Given the description of an element on the screen output the (x, y) to click on. 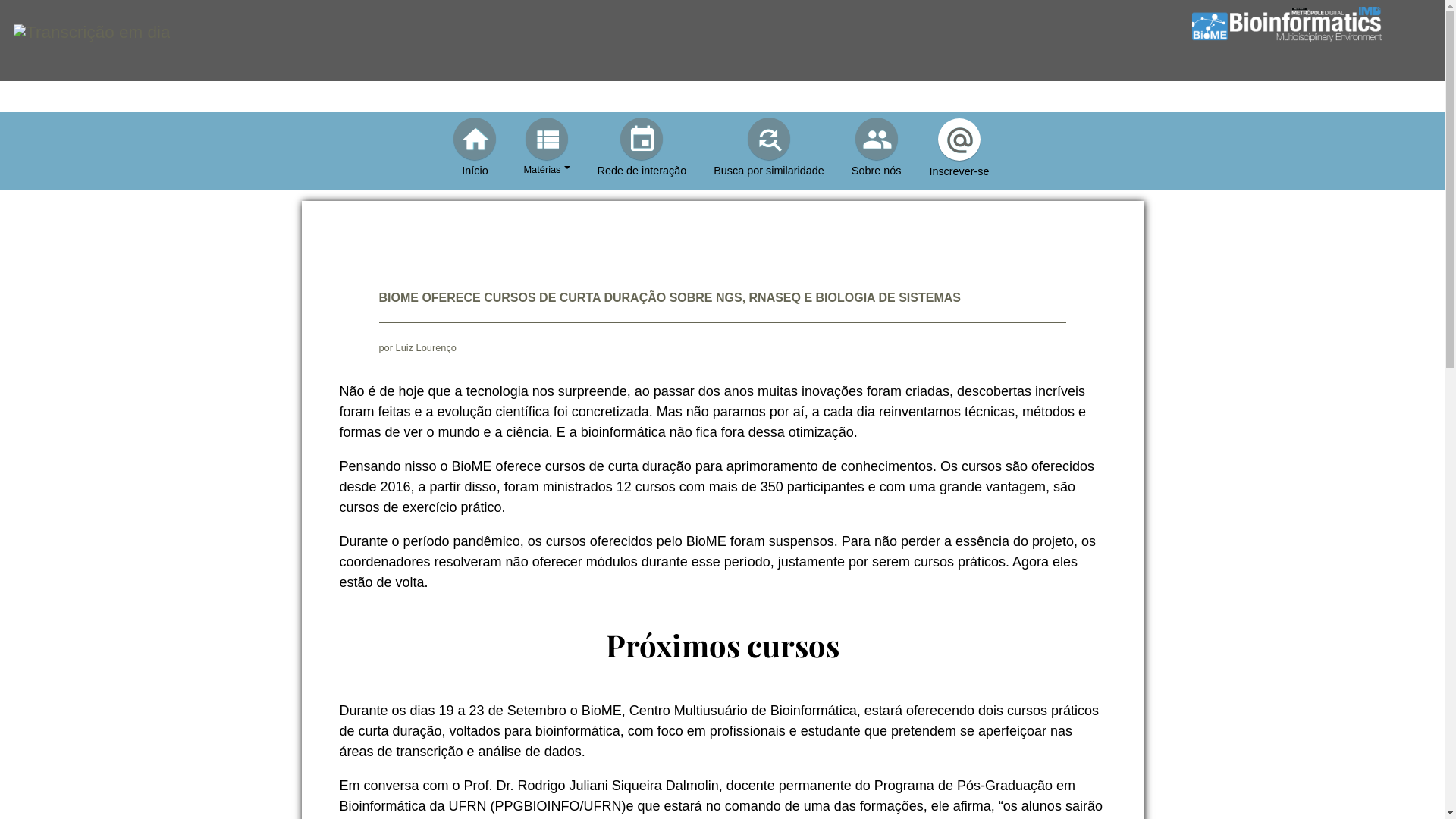
alternate_email Element type: text (959, 139)
view_list Element type: text (546, 137)
groups Element type: text (876, 137)
alternate_email
Inscrever-se Element type: text (958, 148)
event Element type: text (641, 137)
home Element type: text (474, 137)
find_replace Element type: text (768, 137)
